Given the description of an element on the screen output the (x, y) to click on. 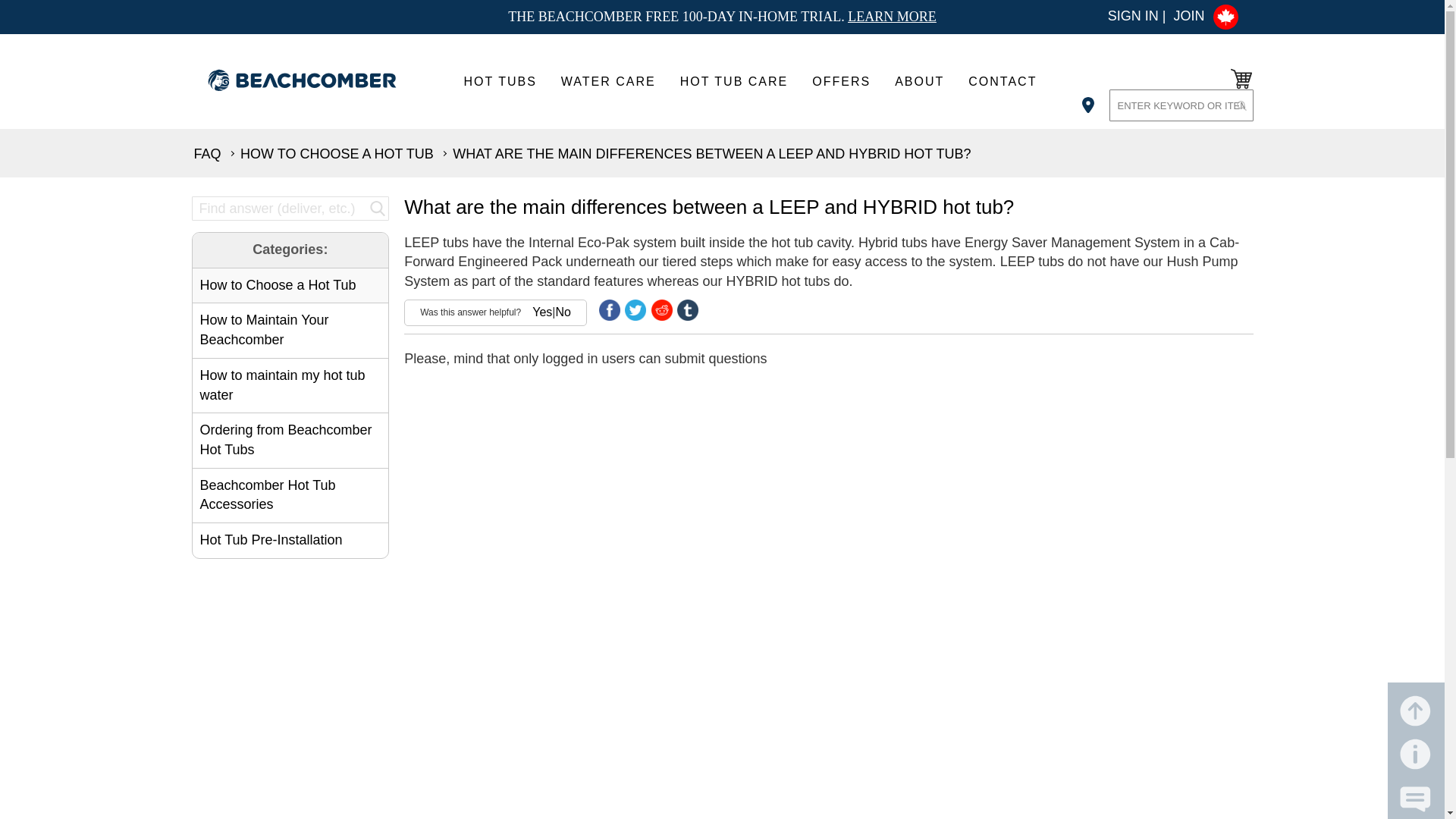
Tumblr (687, 310)
ABOUT (919, 81)
CONTACT (1002, 81)
Facebook (609, 310)
HOT TUBS (499, 81)
Twitter (635, 310)
OFFERS (840, 81)
How to Choose a Hot Tub (336, 153)
Search (289, 208)
JOIN (1188, 15)
Search (1241, 105)
THE BEACHCOMBER FREE 100-DAY IN-HOME TRIAL. LEARN MORE (722, 16)
Beachcomber Hot Tubs (311, 83)
Reddit (661, 310)
HOT TUB CARE (734, 81)
